Given the description of an element on the screen output the (x, y) to click on. 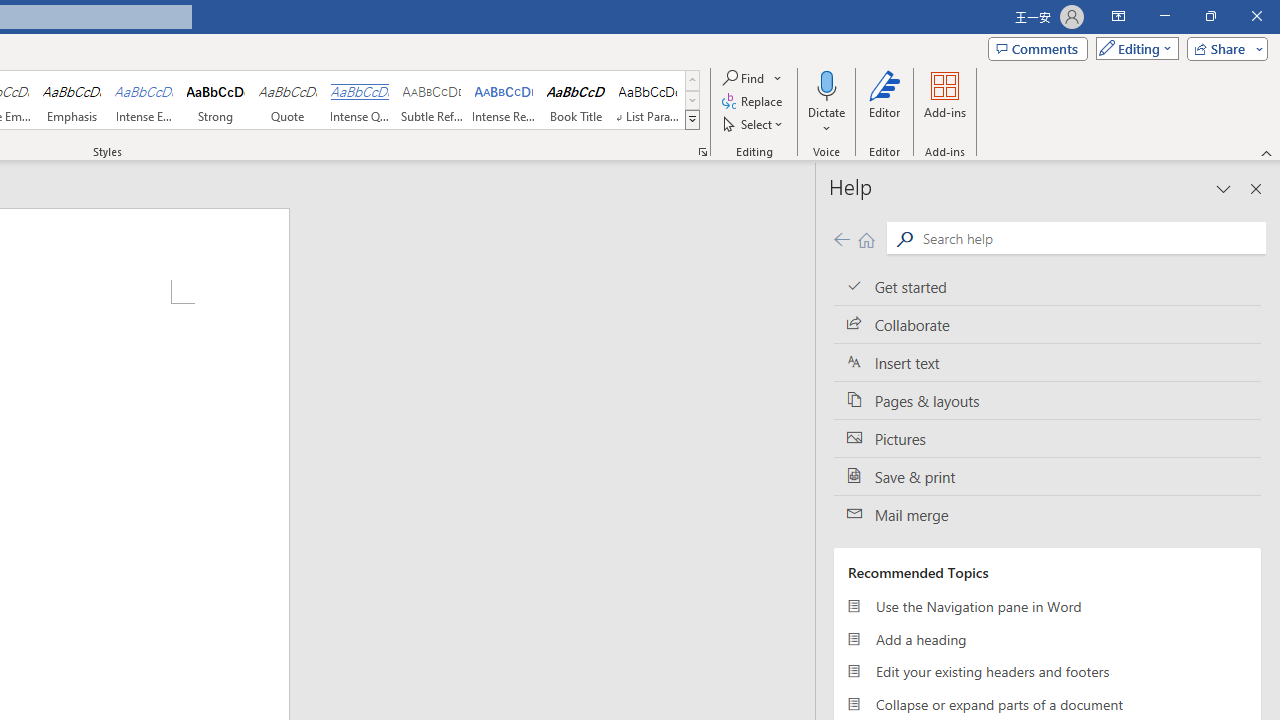
Pages & layouts (1047, 400)
Emphasis (71, 100)
Insert text (1047, 363)
Subtle Reference (431, 100)
Book Title (575, 100)
Intense Quote (359, 100)
